Given the description of an element on the screen output the (x, y) to click on. 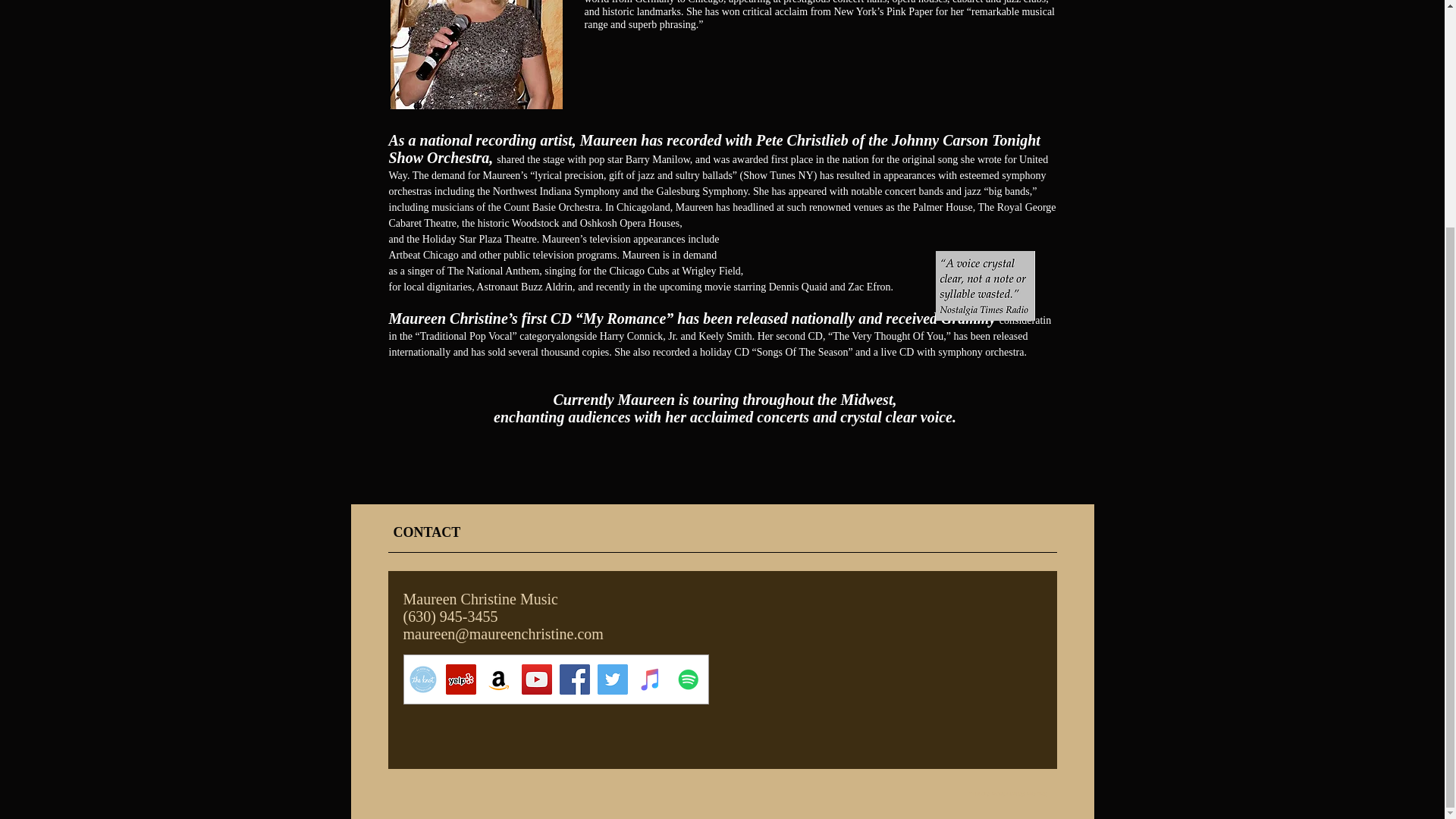
Proudly Designed by Memi-x (1007, 793)
